Given the description of an element on the screen output the (x, y) to click on. 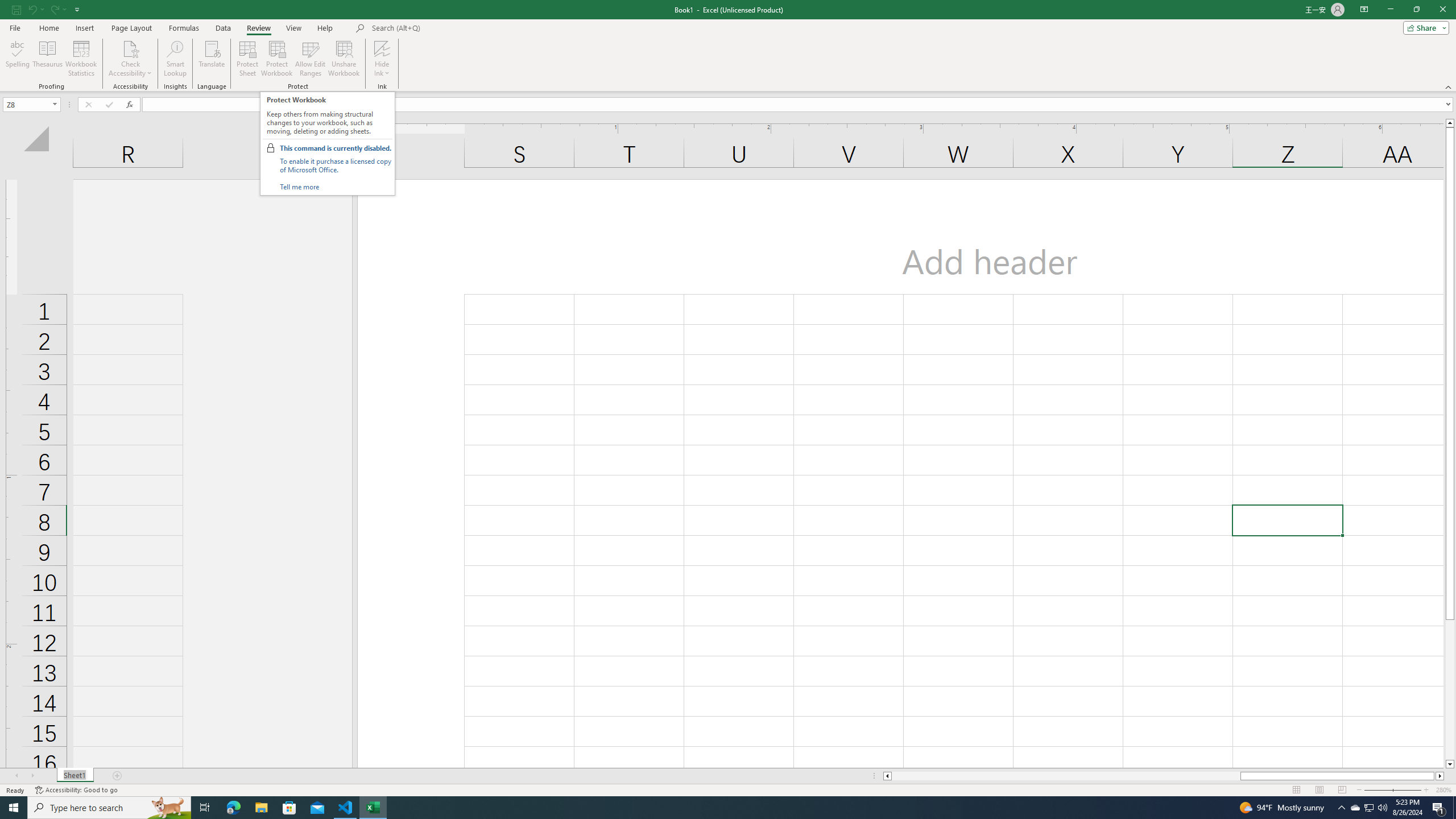
Thesaurus... (47, 58)
This command is currently disabled. (335, 148)
